Given the description of an element on the screen output the (x, y) to click on. 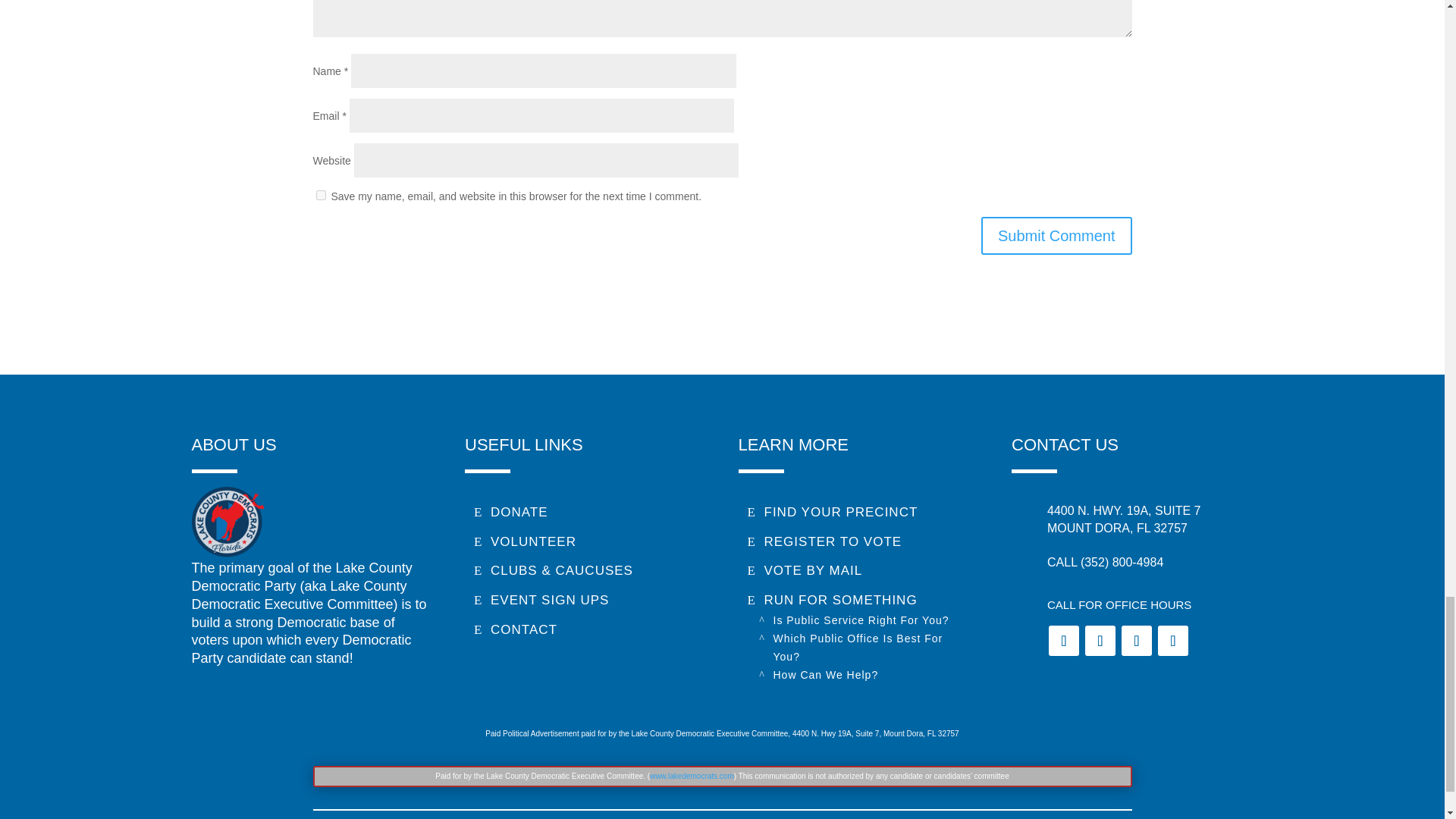
Submit Comment (1056, 235)
DONATE (510, 513)
yes (319, 194)
FIND YOUR PRECINCT (832, 513)
CONTACT (515, 630)
VOLUNTEER (524, 542)
Follow on Facebook (1063, 640)
EVENT SIGN UPS (540, 600)
Follow on Instagram (1136, 640)
Follow on Youtube (1172, 640)
